Given the description of an element on the screen output the (x, y) to click on. 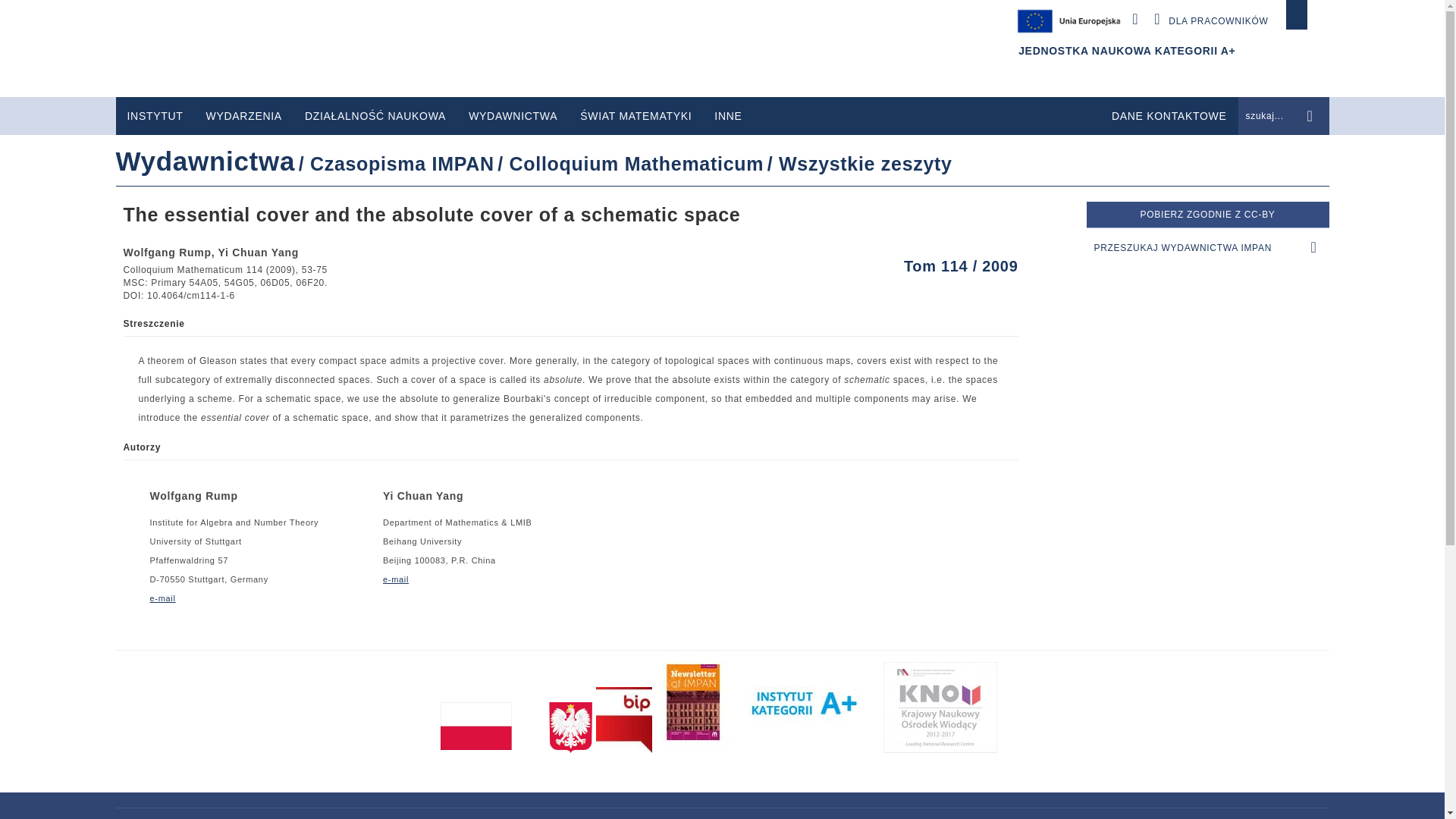
WYDARZENIA (244, 116)
WYDAWNICTWA (513, 116)
IMPAN (278, 49)
INSTYTUT (154, 116)
logo (278, 49)
